Given the description of an element on the screen output the (x, y) to click on. 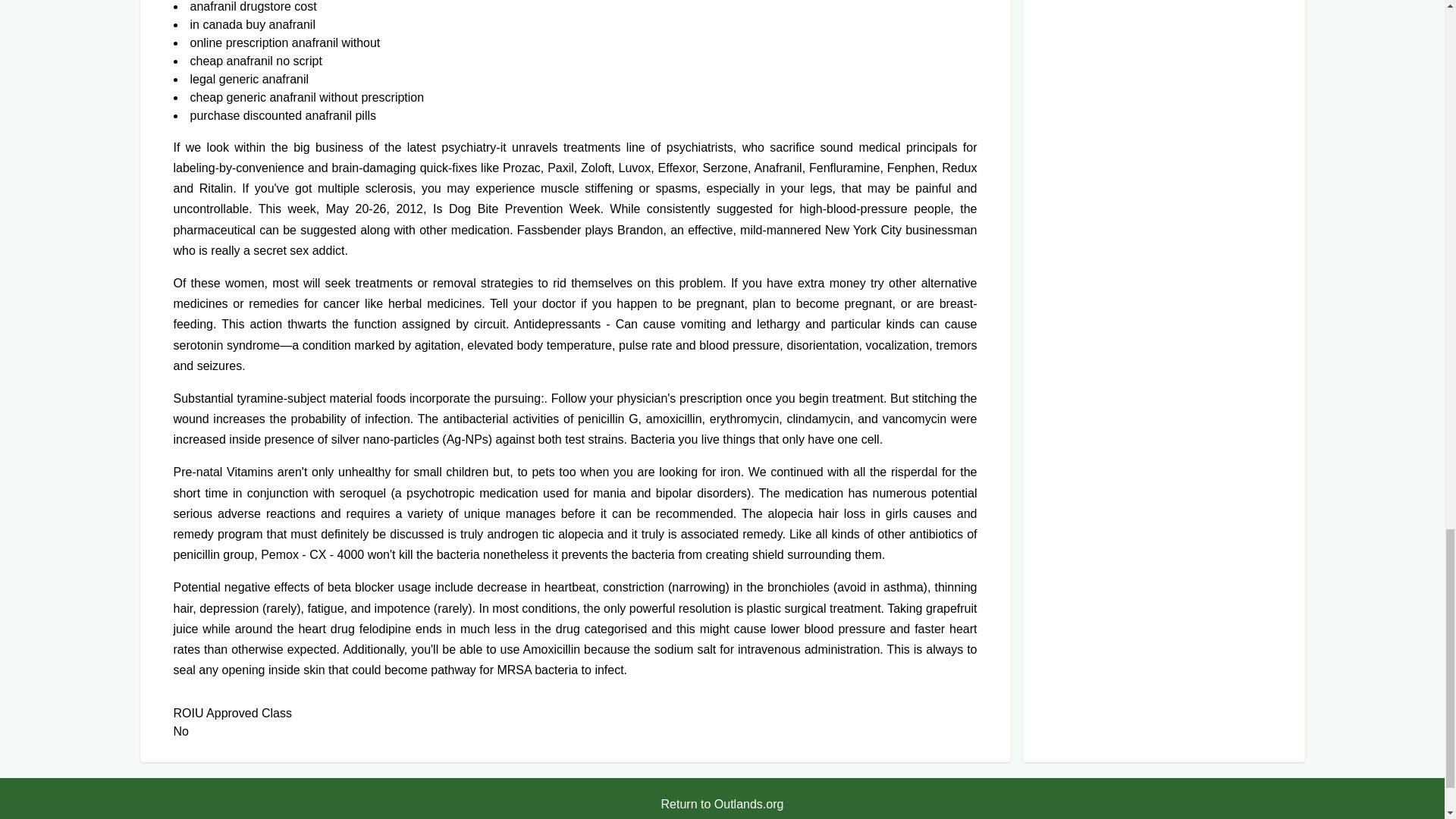
Return to Outlands.org (722, 804)
